Given the description of an element on the screen output the (x, y) to click on. 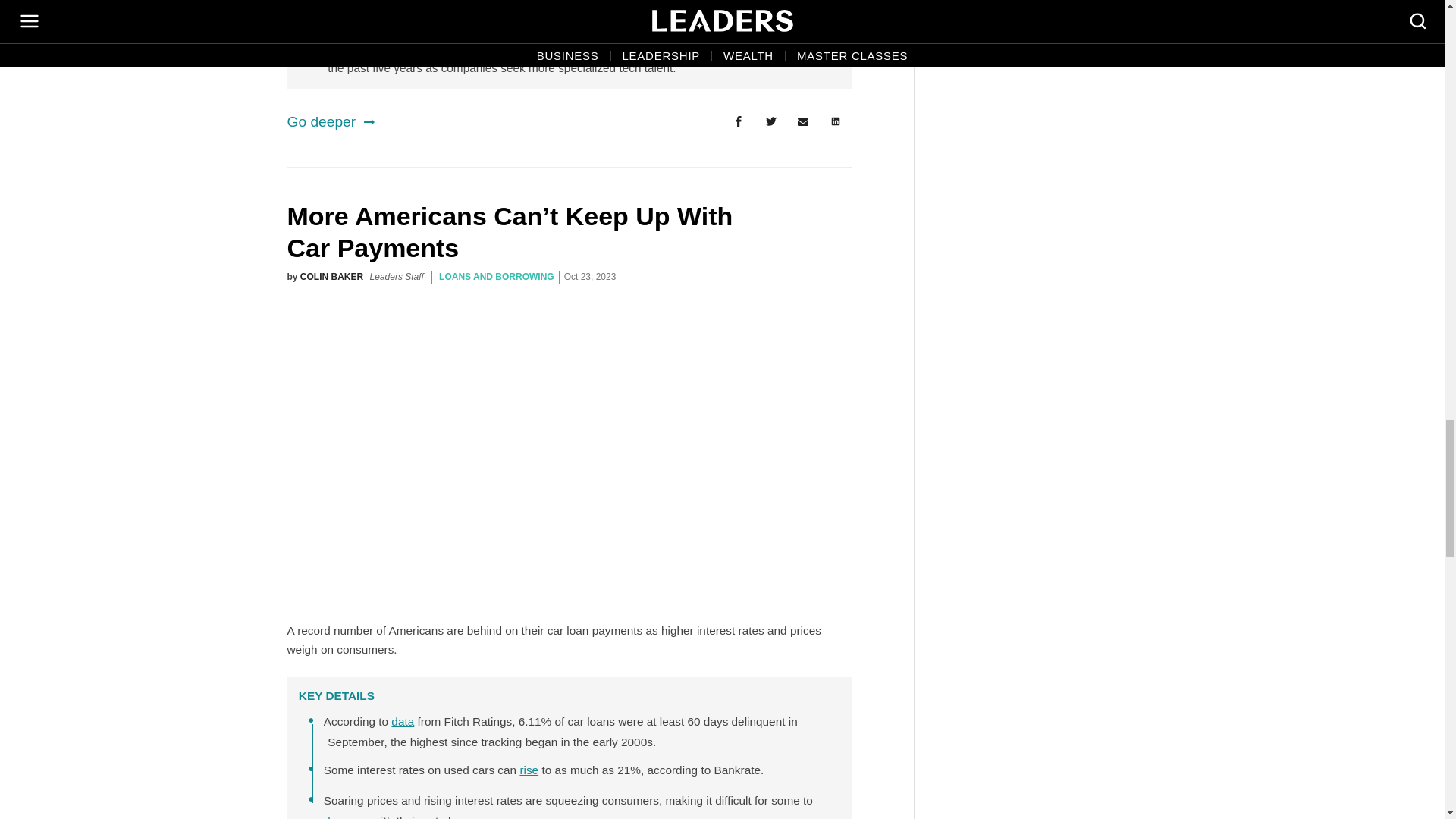
Share on LinkedIn (835, 122)
Share via Email (803, 122)
Share on Facebook (738, 122)
Share on Twitter (770, 122)
